Given the description of an element on the screen output the (x, y) to click on. 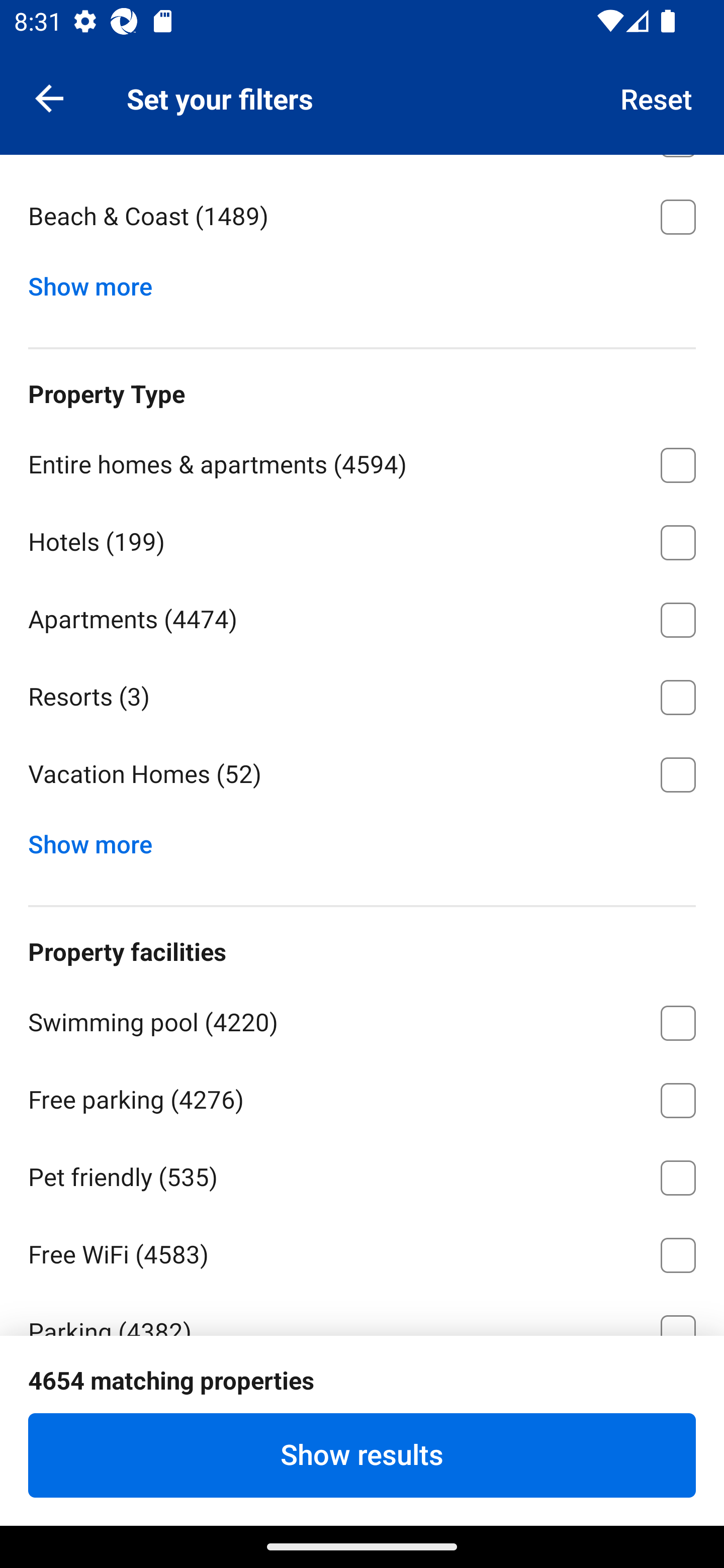
Navigate up (49, 97)
Reset (656, 97)
Beach & Coast ⁦(1489) (361, 216)
Show more (97, 281)
Entire homes & apartments ⁦(4594) (361, 461)
Hotels ⁦(199) (361, 539)
Apartments ⁦(4474) (361, 616)
Resorts ⁦(3) (361, 693)
Vacation Homes ⁦(52) (361, 774)
Show more (97, 839)
Swimming pool ⁦(4220) (361, 1019)
Free parking ⁦(4276) (361, 1096)
Pet friendly ⁦(535) (361, 1174)
Free WiFi ⁦(4583) (361, 1251)
Show results (361, 1454)
